Given the description of an element on the screen output the (x, y) to click on. 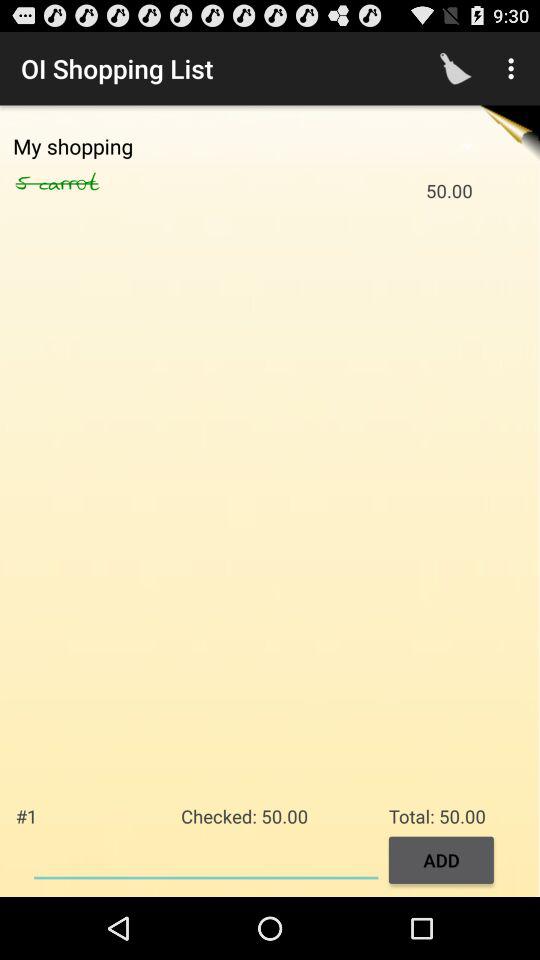
type an entry (205, 858)
